Given the description of an element on the screen output the (x, y) to click on. 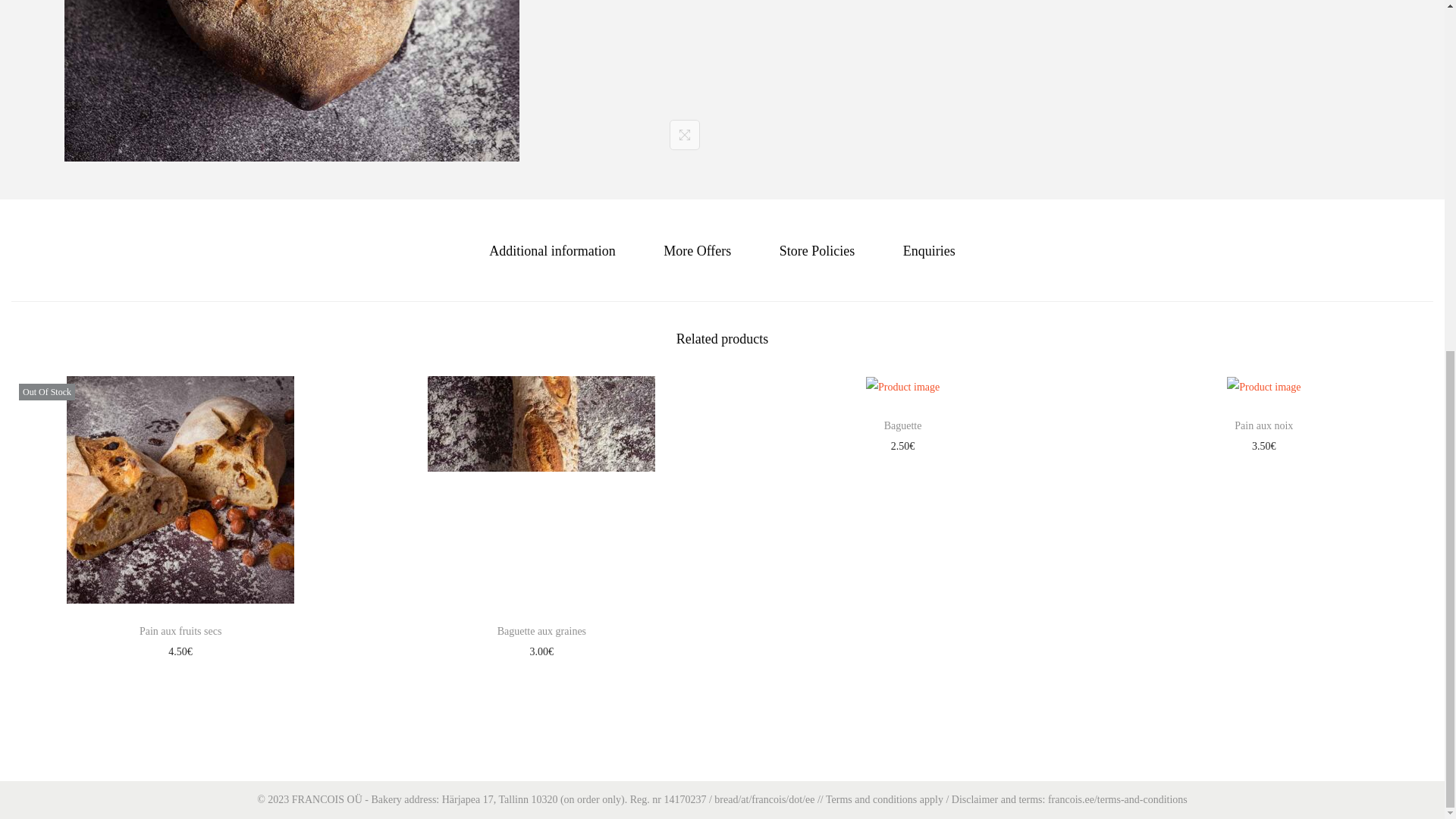
Additional information (551, 250)
More Offers (696, 250)
Baguette aux graines (541, 631)
Baguette (902, 425)
Pain aux fruits secs (180, 631)
Store Policies (817, 250)
Enquiries (928, 250)
